Given the description of an element on the screen output the (x, y) to click on. 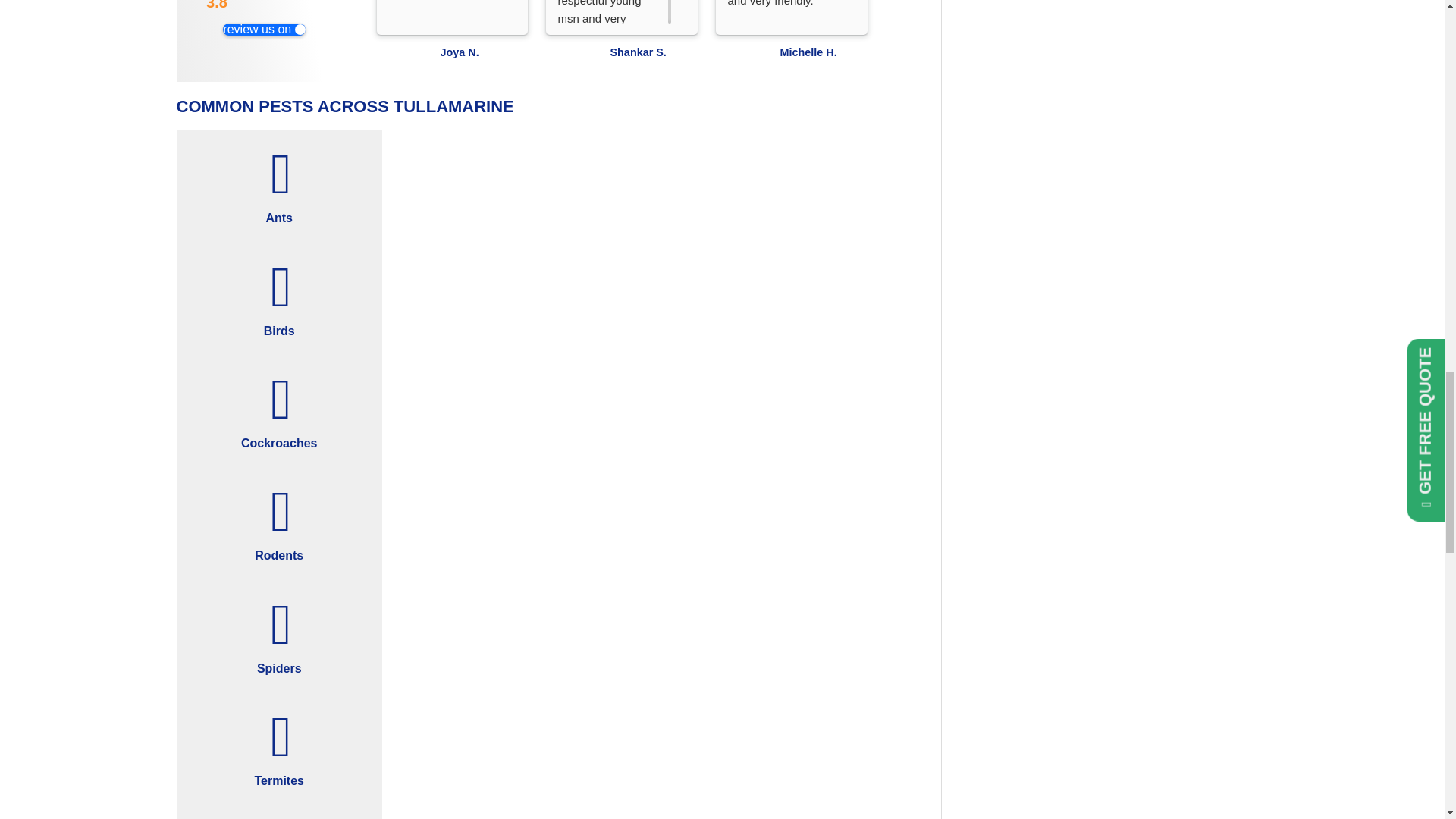
Shankar S. (579, 61)
Matt (1332, 51)
Michelle H. (822, 51)
Kelly R. (992, 51)
Tony P. (1089, 61)
Ram is the best.Professional (445, 11)
Shankar S. (653, 51)
Matt (1259, 61)
Kelly R. (920, 61)
